Given the description of an element on the screen output the (x, y) to click on. 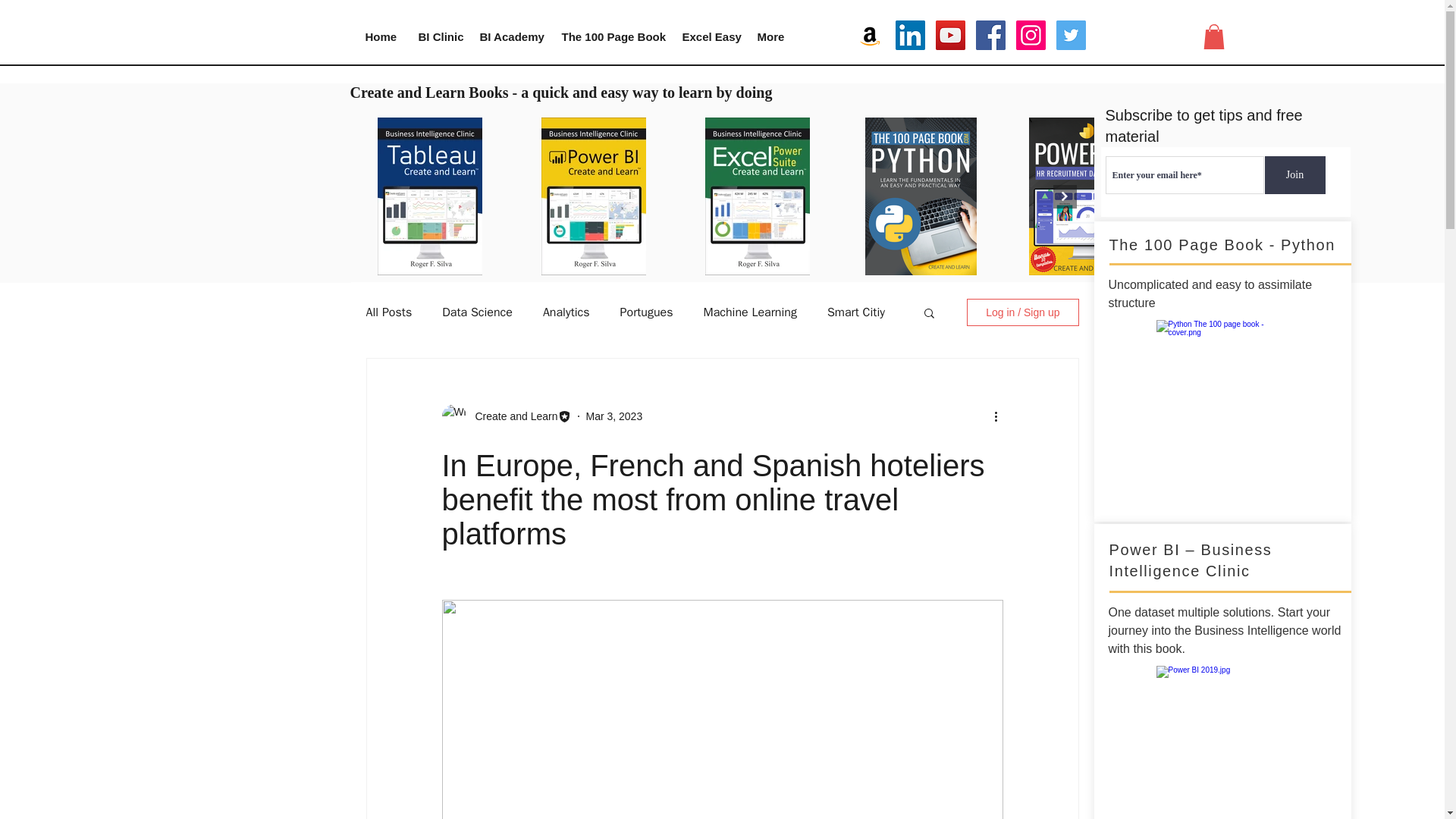
Machine Learning (749, 312)
Mar 3, 2023 (613, 415)
BI Academy (509, 37)
Analytics (566, 312)
The 100 Page Book (610, 37)
Data Science (477, 312)
Home (379, 37)
Smart Citiy (856, 312)
Excel Easy (707, 37)
All Posts (388, 312)
Portugues (646, 312)
BI Clinic (436, 37)
Create and Learn (511, 415)
